Given the description of an element on the screen output the (x, y) to click on. 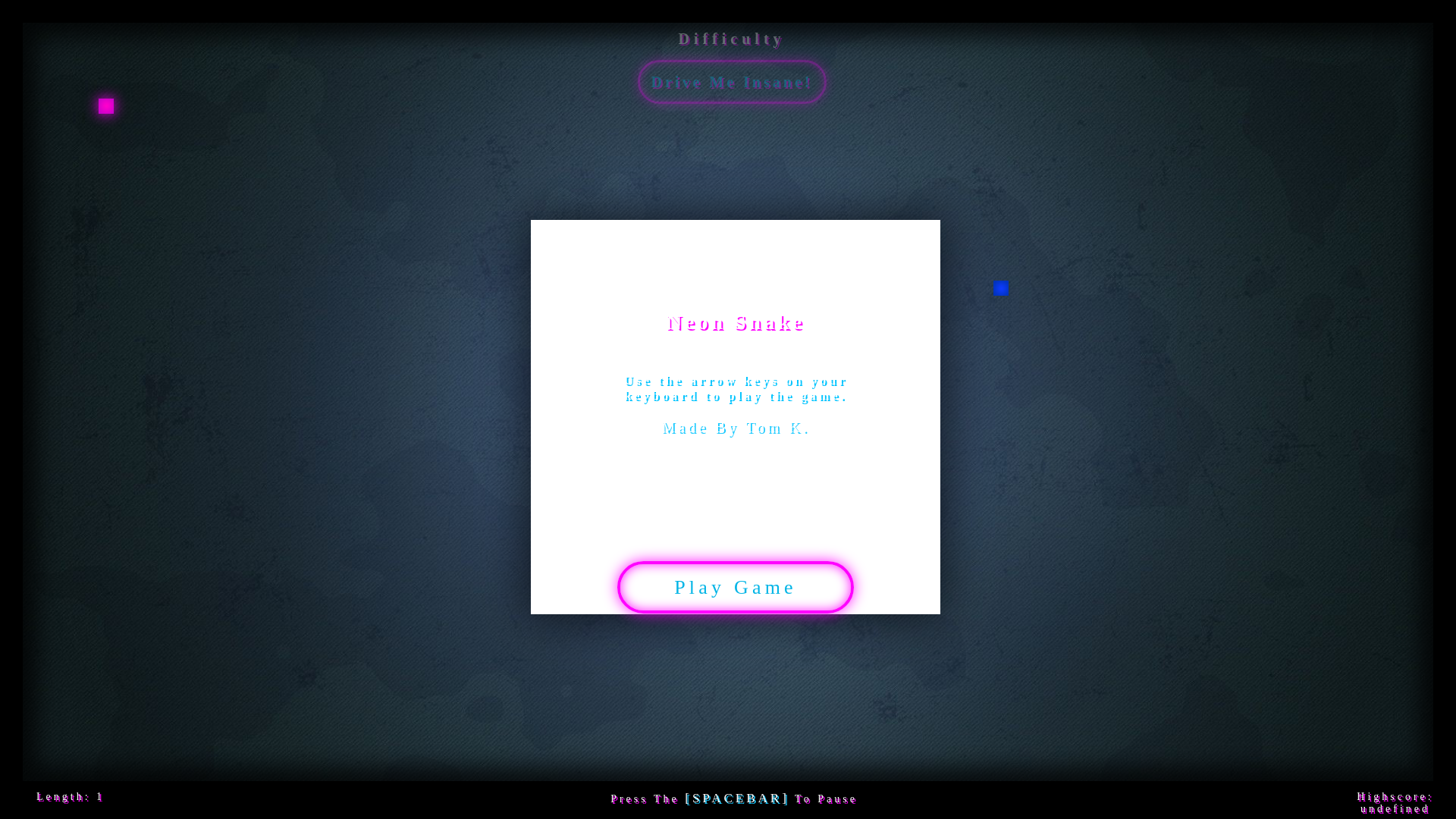
Play Game Element type: text (708, 581)
